Given the description of an element on the screen output the (x, y) to click on. 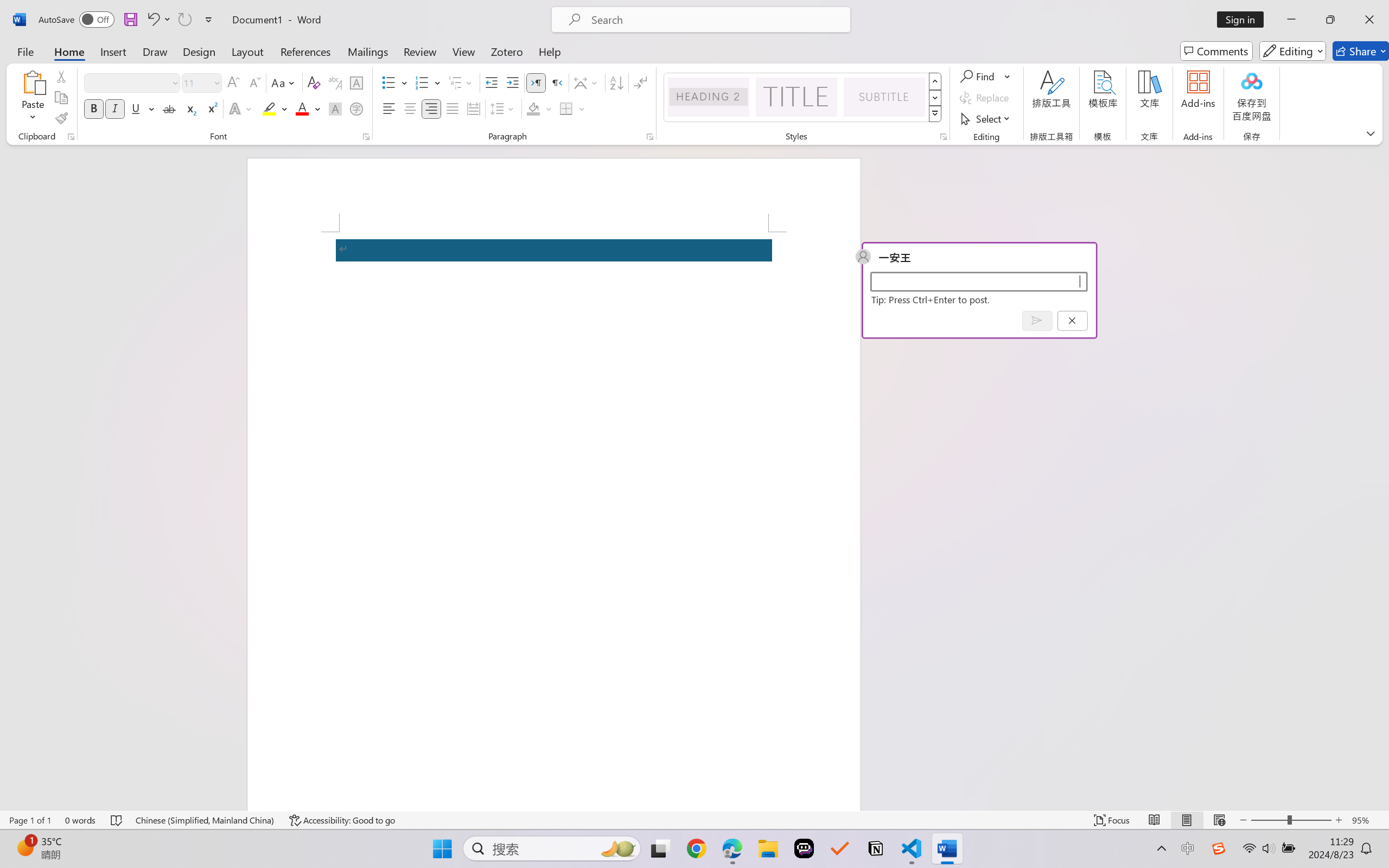
Left-to-Right (535, 82)
Title (796, 96)
Right-to-Left (556, 82)
Can't Repeat (184, 19)
Text Highlight Color RGB(255, 255, 0) (269, 108)
